Given the description of an element on the screen output the (x, y) to click on. 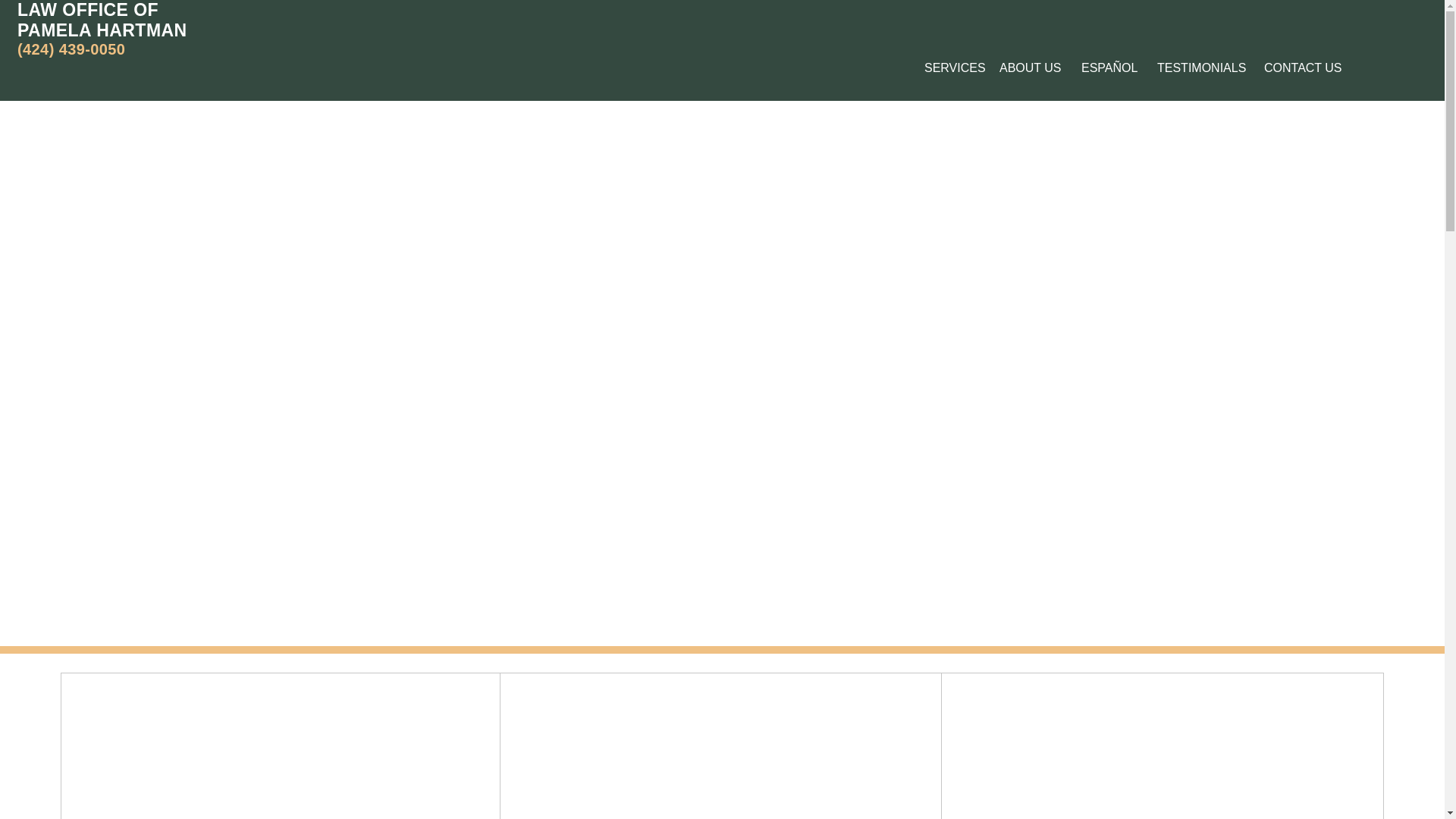
CONTACT US (1301, 67)
TESTIMONIALS (102, 20)
SERVICES (1198, 67)
ABOUT US (950, 67)
